Given the description of an element on the screen output the (x, y) to click on. 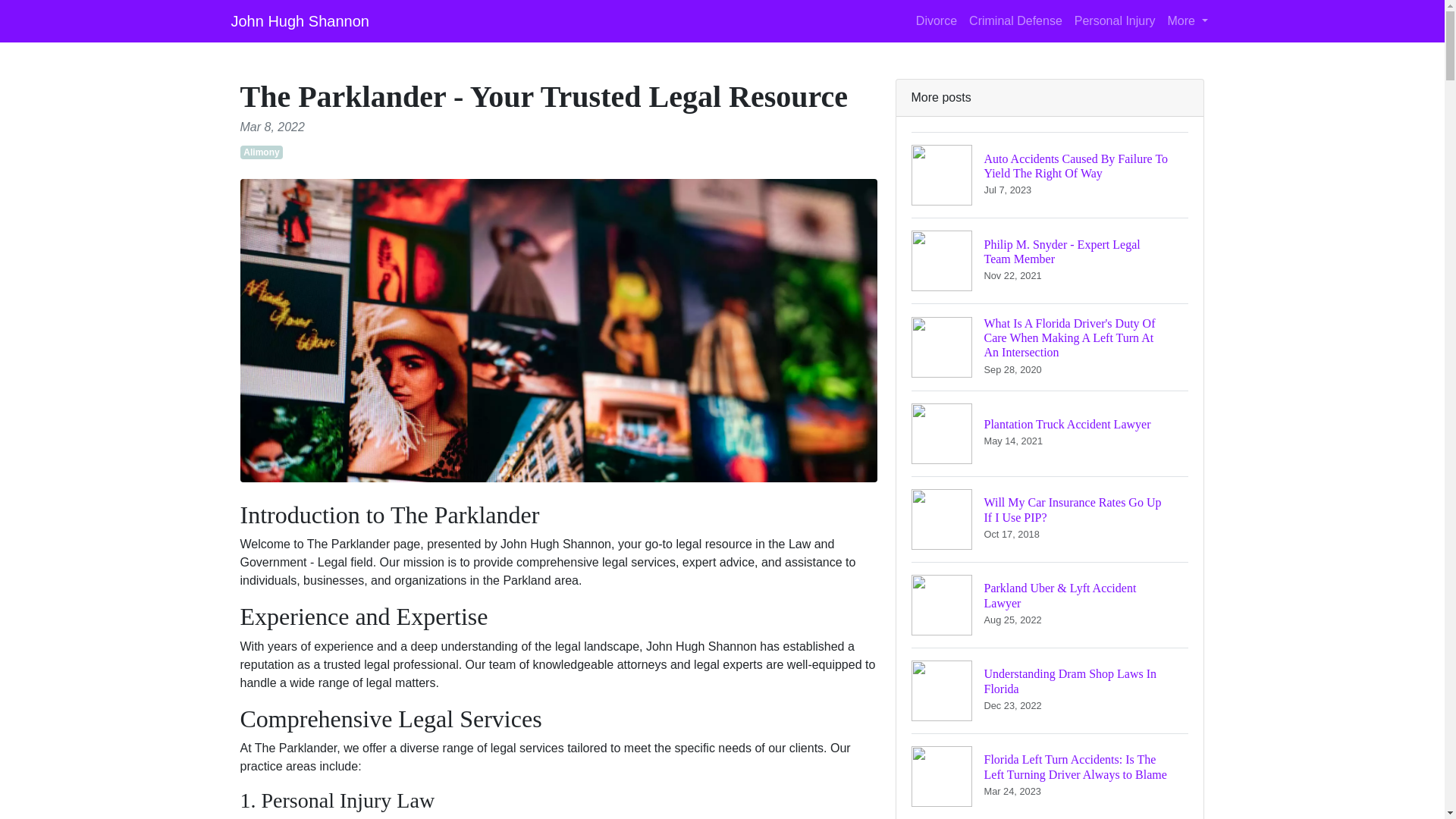
More (1050, 690)
Criminal Defense (1050, 432)
John Hugh Shannon (1050, 260)
Personal Injury (1050, 518)
